Given the description of an element on the screen output the (x, y) to click on. 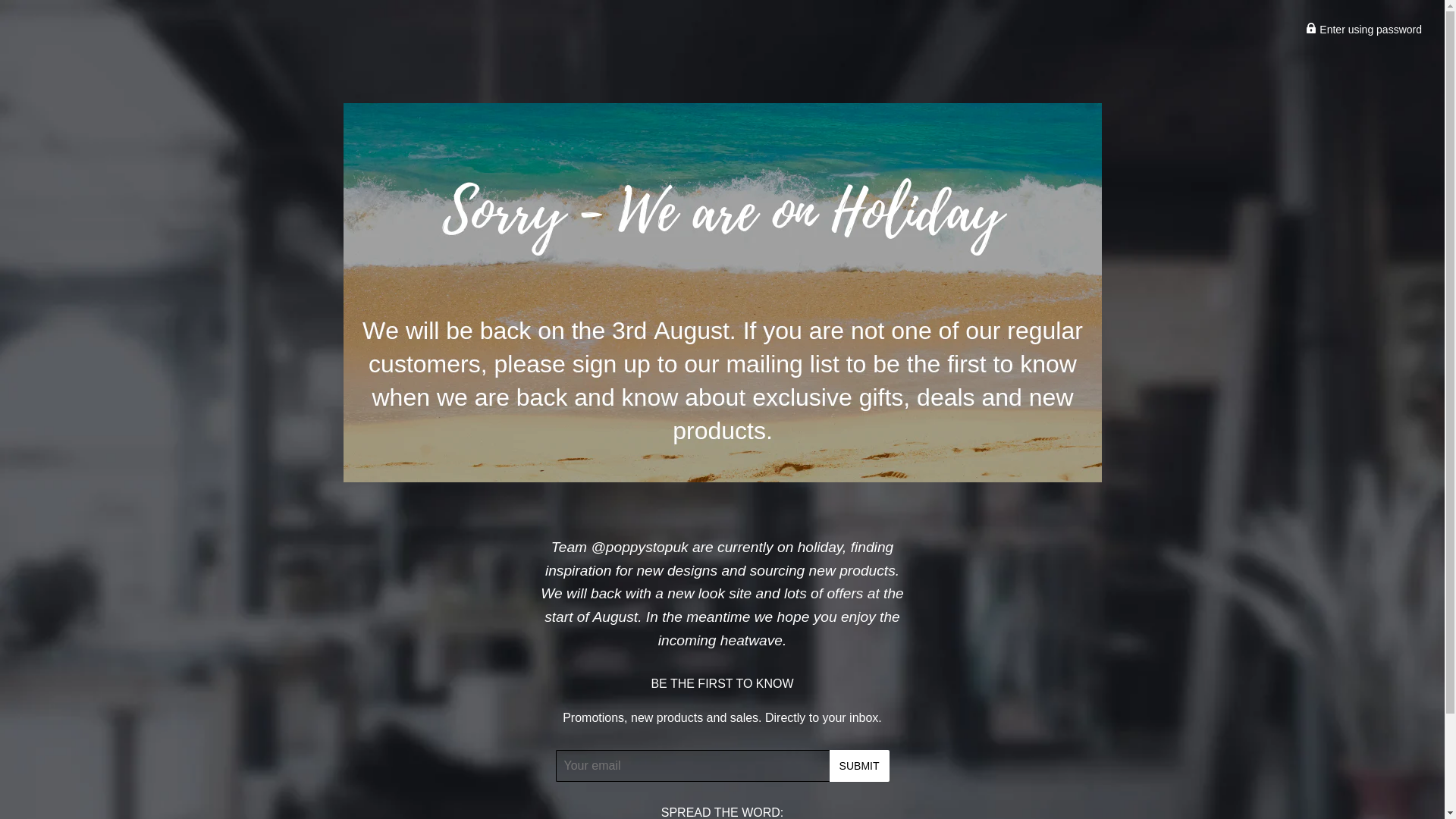
Submit (859, 766)
Lock icon Enter using password (1364, 29)
Submit (859, 766)
Lock icon (1311, 27)
